Given the description of an element on the screen output the (x, y) to click on. 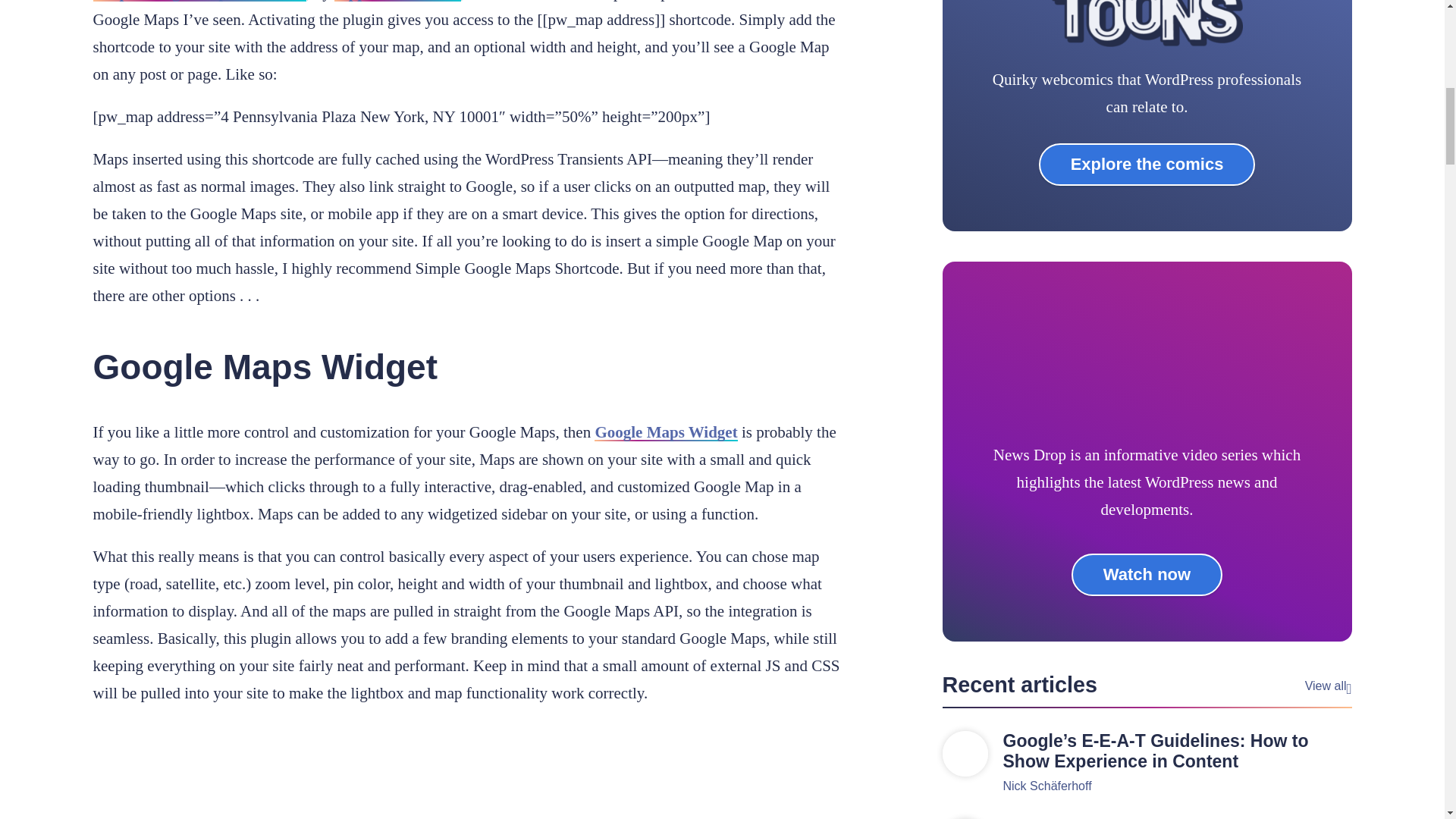
Pippin Williamson (397, 0)
Google Maps Widget (665, 432)
